Given the description of an element on the screen output the (x, y) to click on. 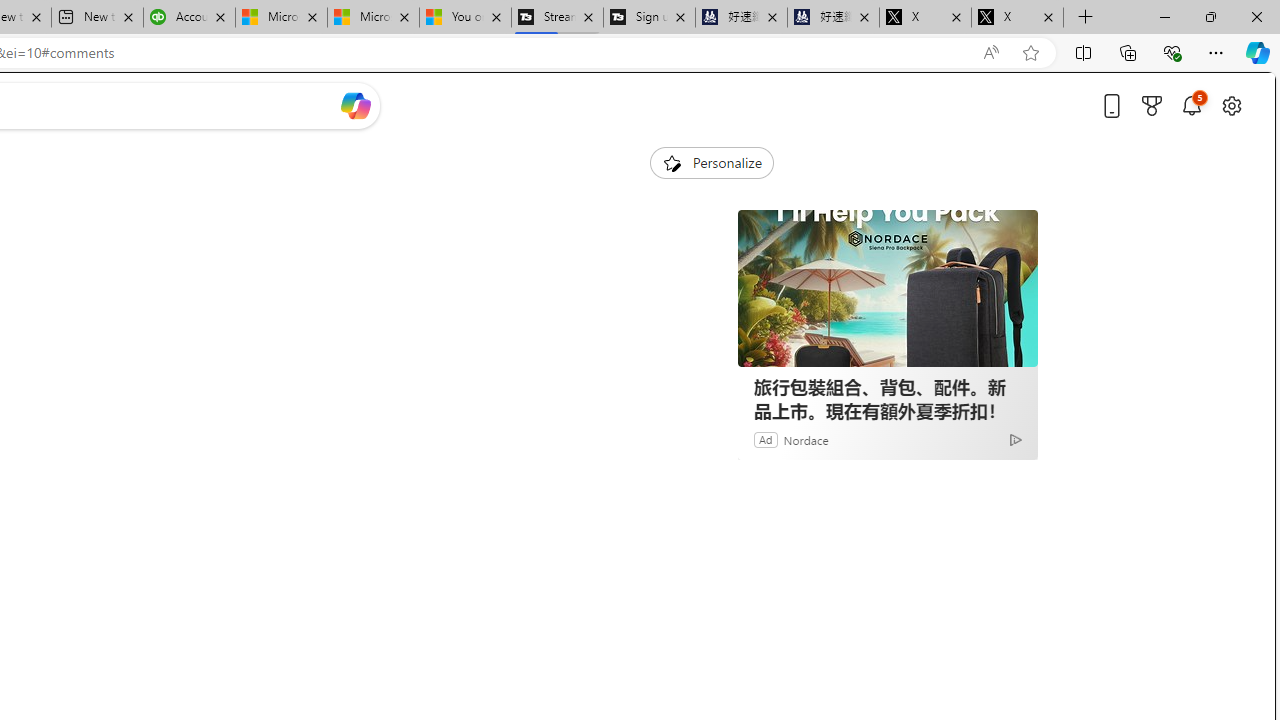
Microsoft Start Sports (280, 17)
Ad (766, 439)
Personalize (711, 162)
Open settings (1231, 105)
Ad Choice (1015, 439)
Accounting Software for Accountants, CPAs and Bookkeepers (189, 17)
